Given the description of an element on the screen output the (x, y) to click on. 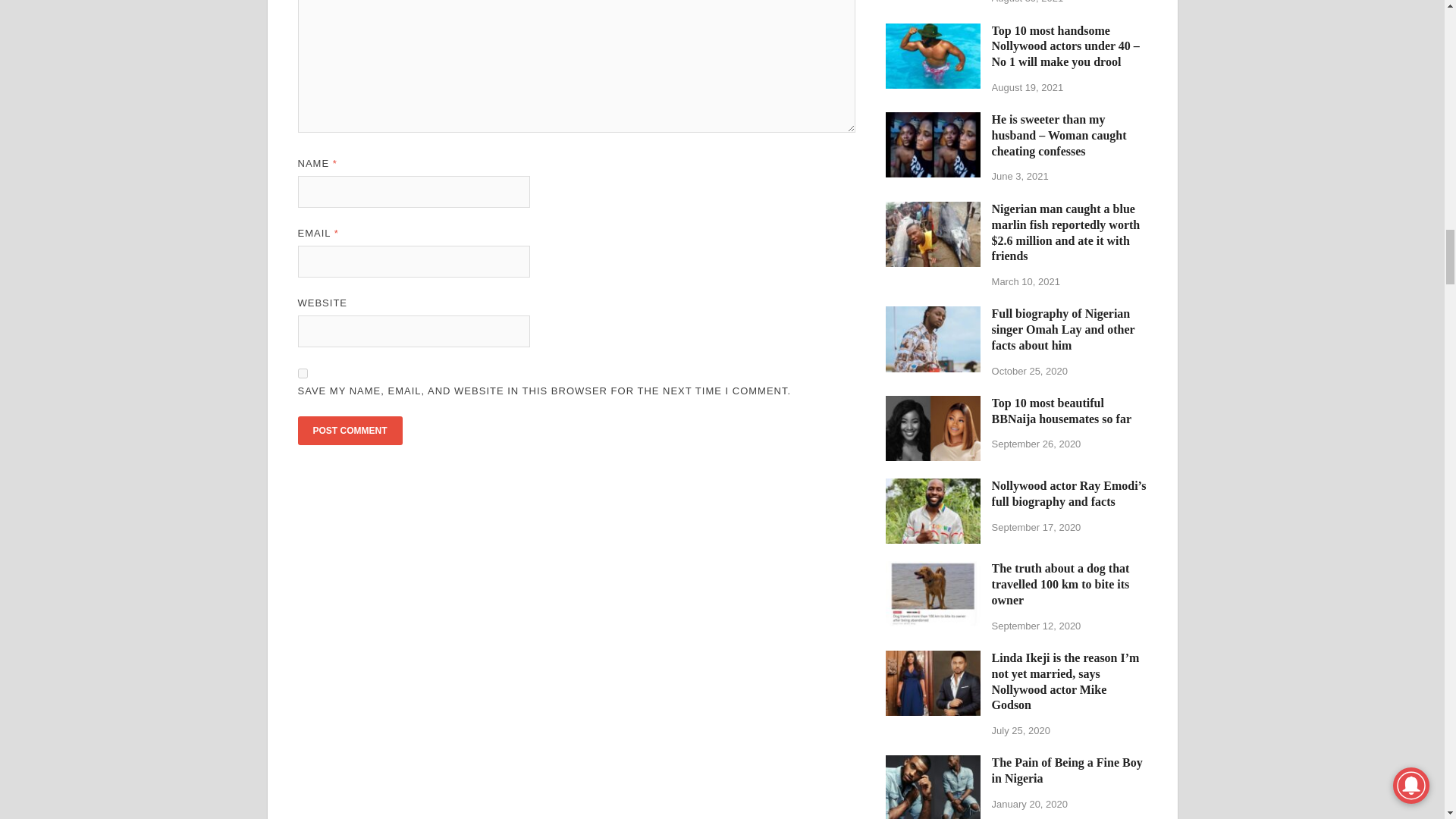
Post Comment (349, 430)
yes (302, 373)
